Given the description of an element on the screen output the (x, y) to click on. 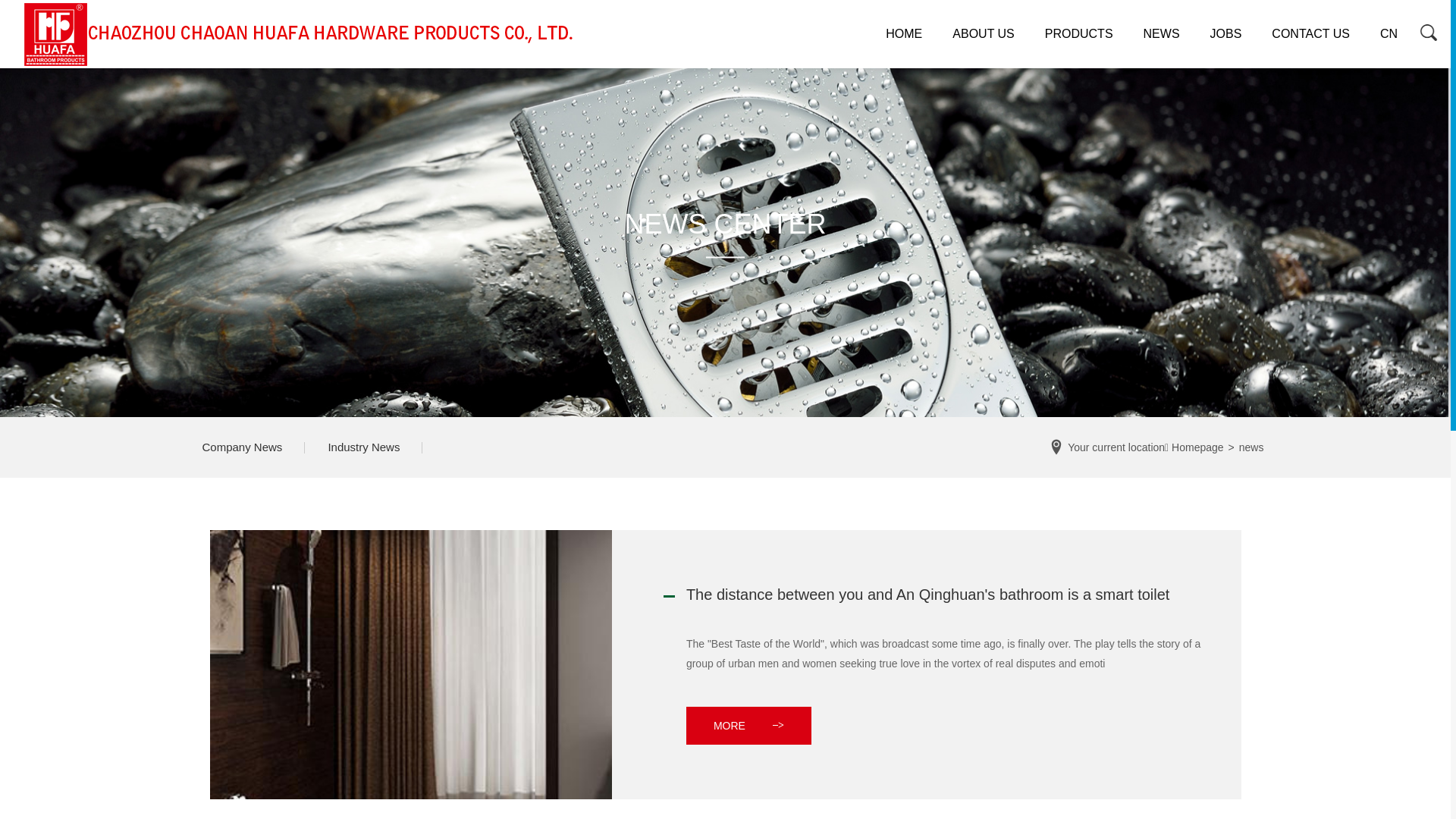
NEWS Element type: text (1161, 34)
PRODUCTS Element type: text (1078, 34)
Homepage Element type: text (1197, 447)
CN Element type: text (1388, 34)
CONTACT US Element type: text (1310, 34)
hy Element type: hover (1431, 33)
Company News Element type: text (241, 447)
HOME Element type: text (903, 34)
JOBS Element type: text (1226, 34)
Industry News Element type: text (363, 447)
ABOUT US Element type: text (983, 34)
